Given the description of an element on the screen output the (x, y) to click on. 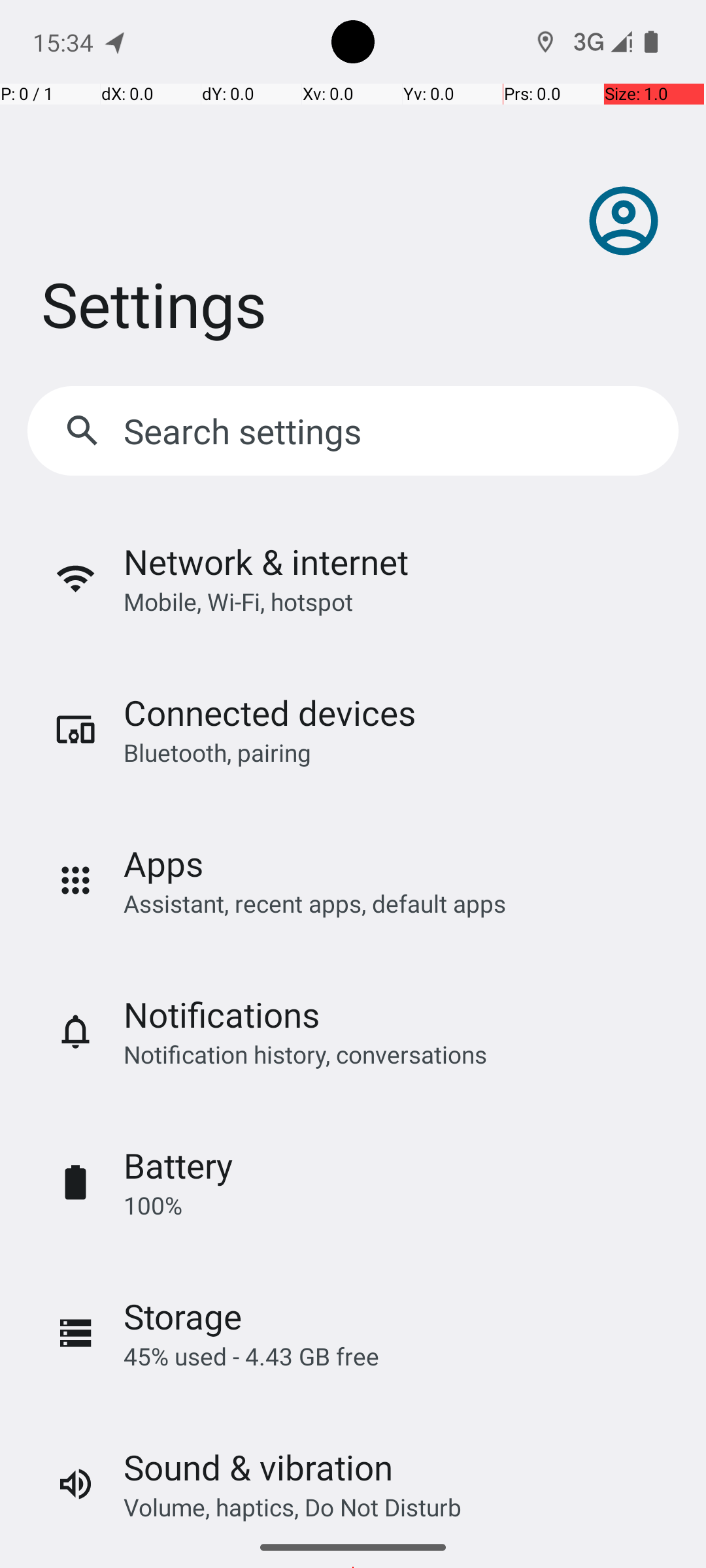
45% used - 4.43 GB free Element type: android.widget.TextView (251, 1355)
